Given the description of an element on the screen output the (x, y) to click on. 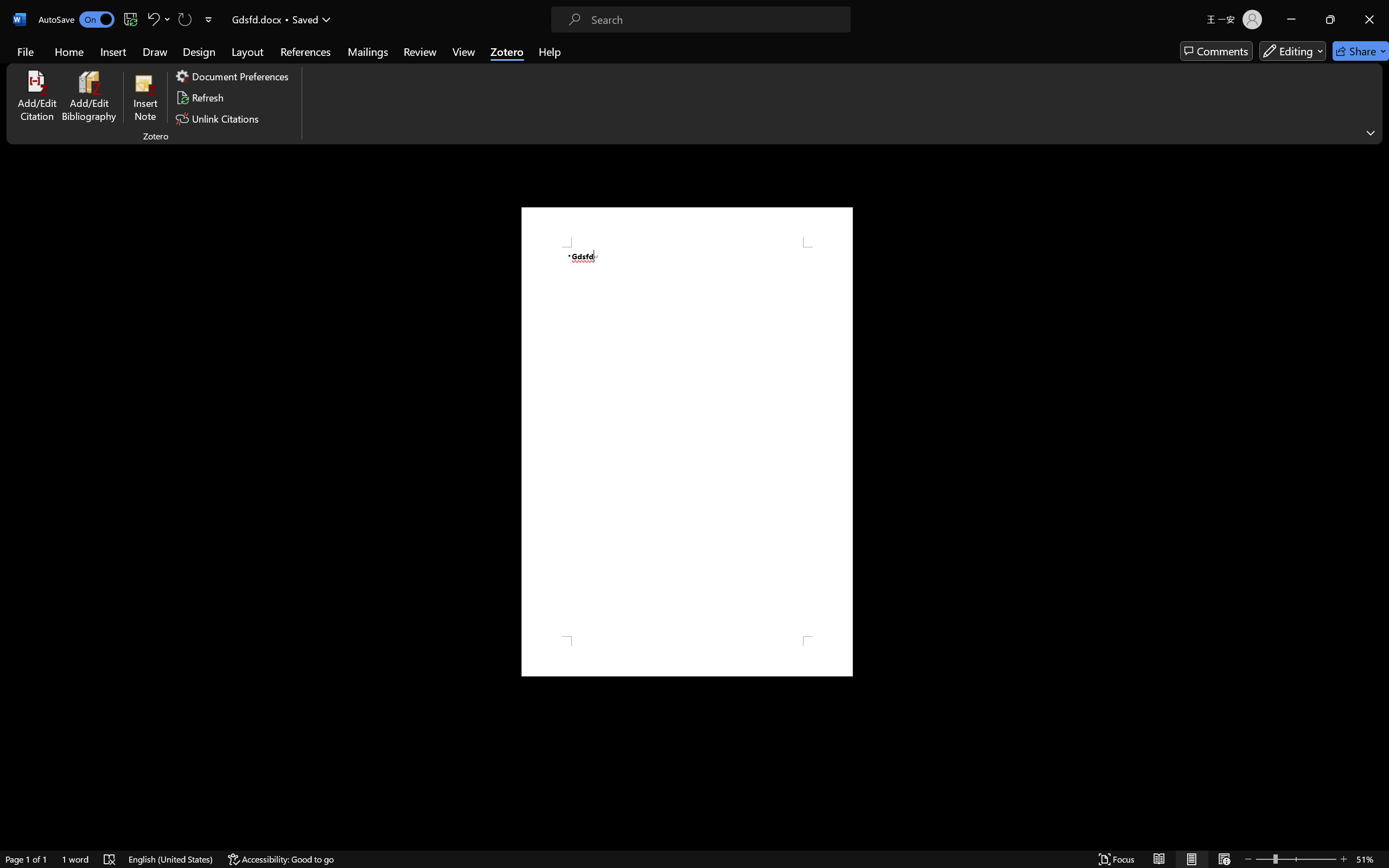
Page 1 content (686, 441)
